Given the description of an element on the screen output the (x, y) to click on. 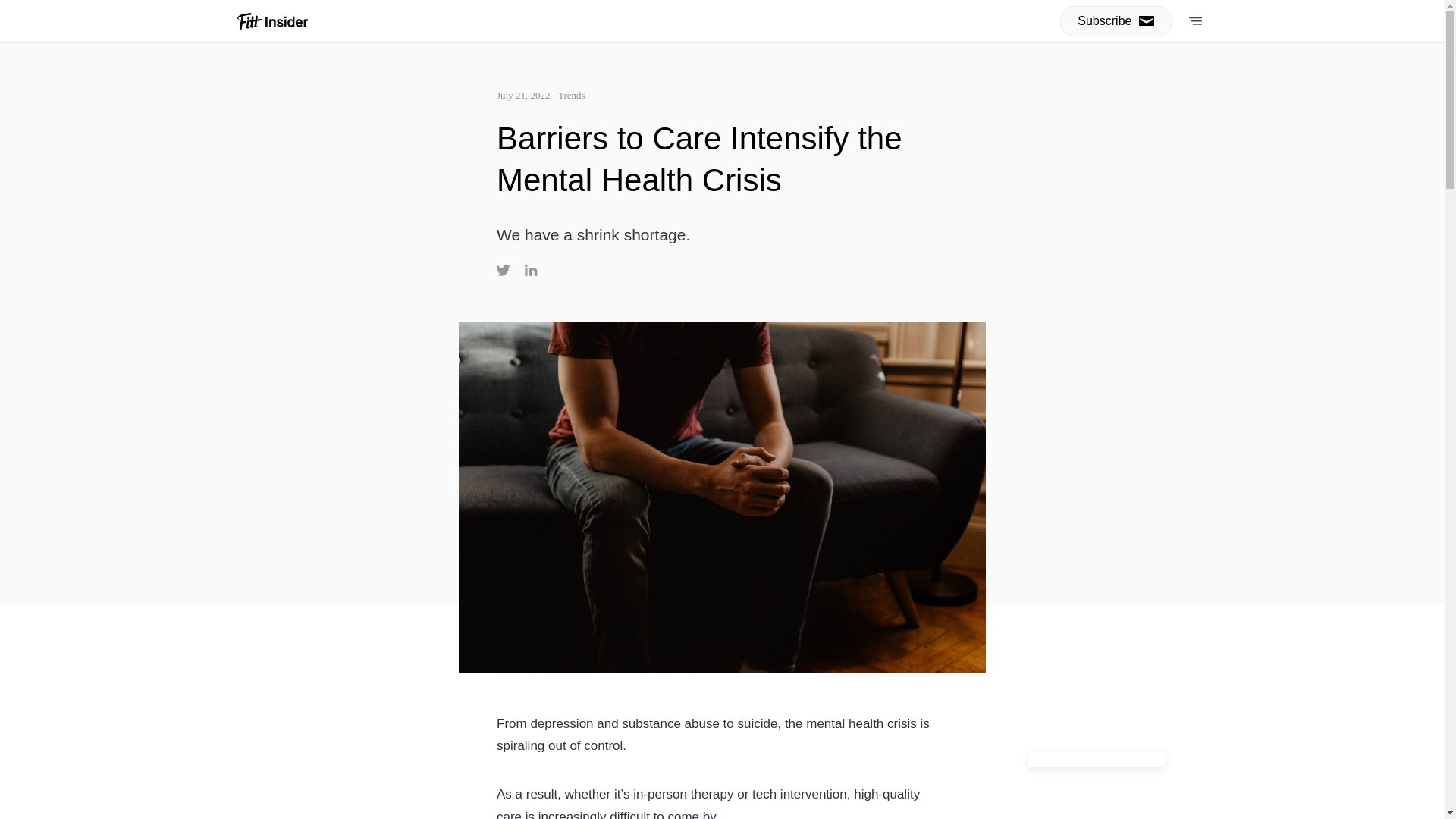
Subscribe (1115, 20)
